Given the description of an element on the screen output the (x, y) to click on. 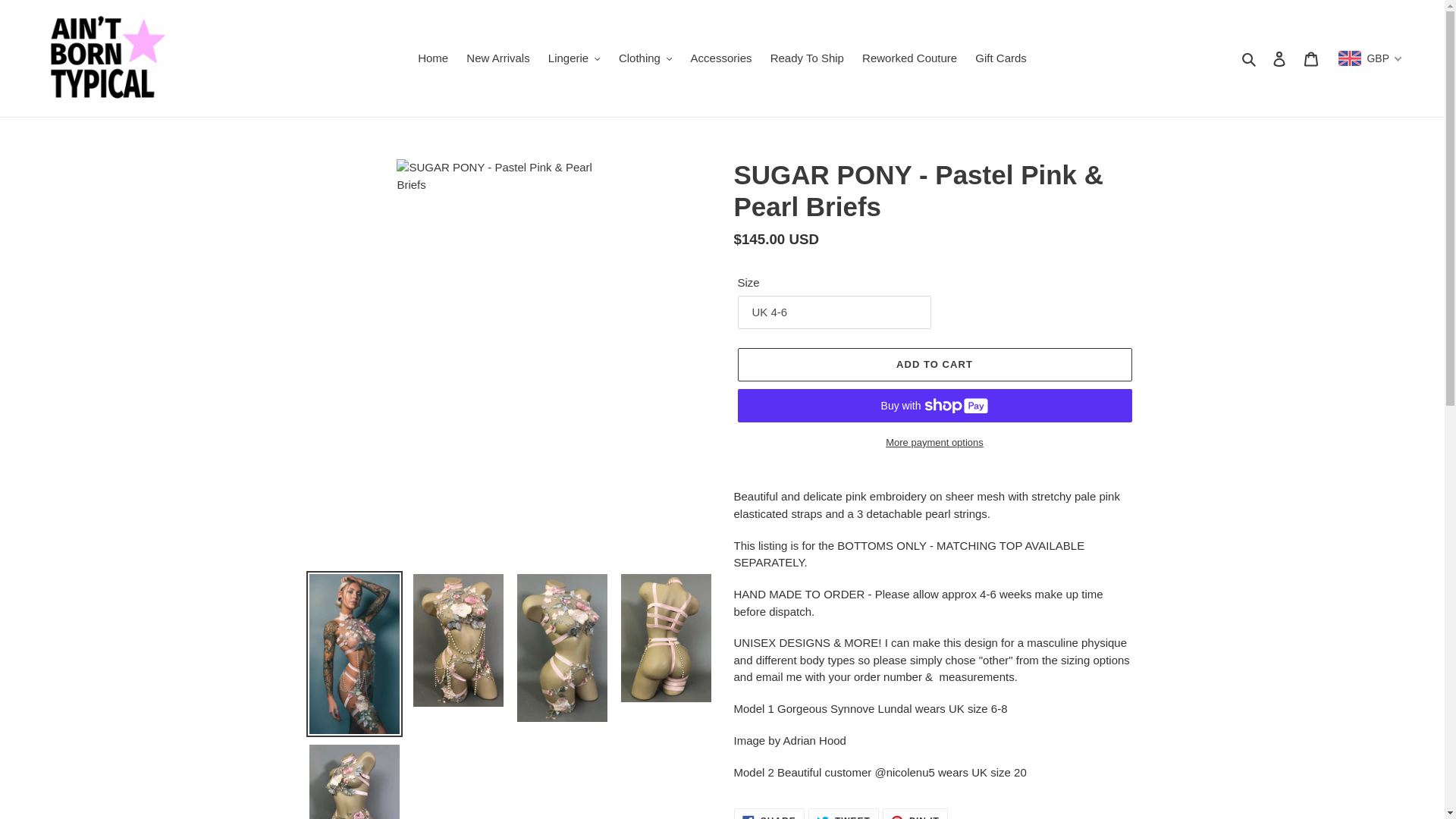
Clothing (645, 58)
New Arrivals (497, 58)
Cart (1310, 58)
Log in (1279, 58)
Search (1249, 58)
Reworked Couture (908, 58)
Accessories (721, 58)
Home (432, 58)
Lingerie (574, 58)
Ready To Ship (806, 58)
Gift Cards (1000, 58)
